Given the description of an element on the screen output the (x, y) to click on. 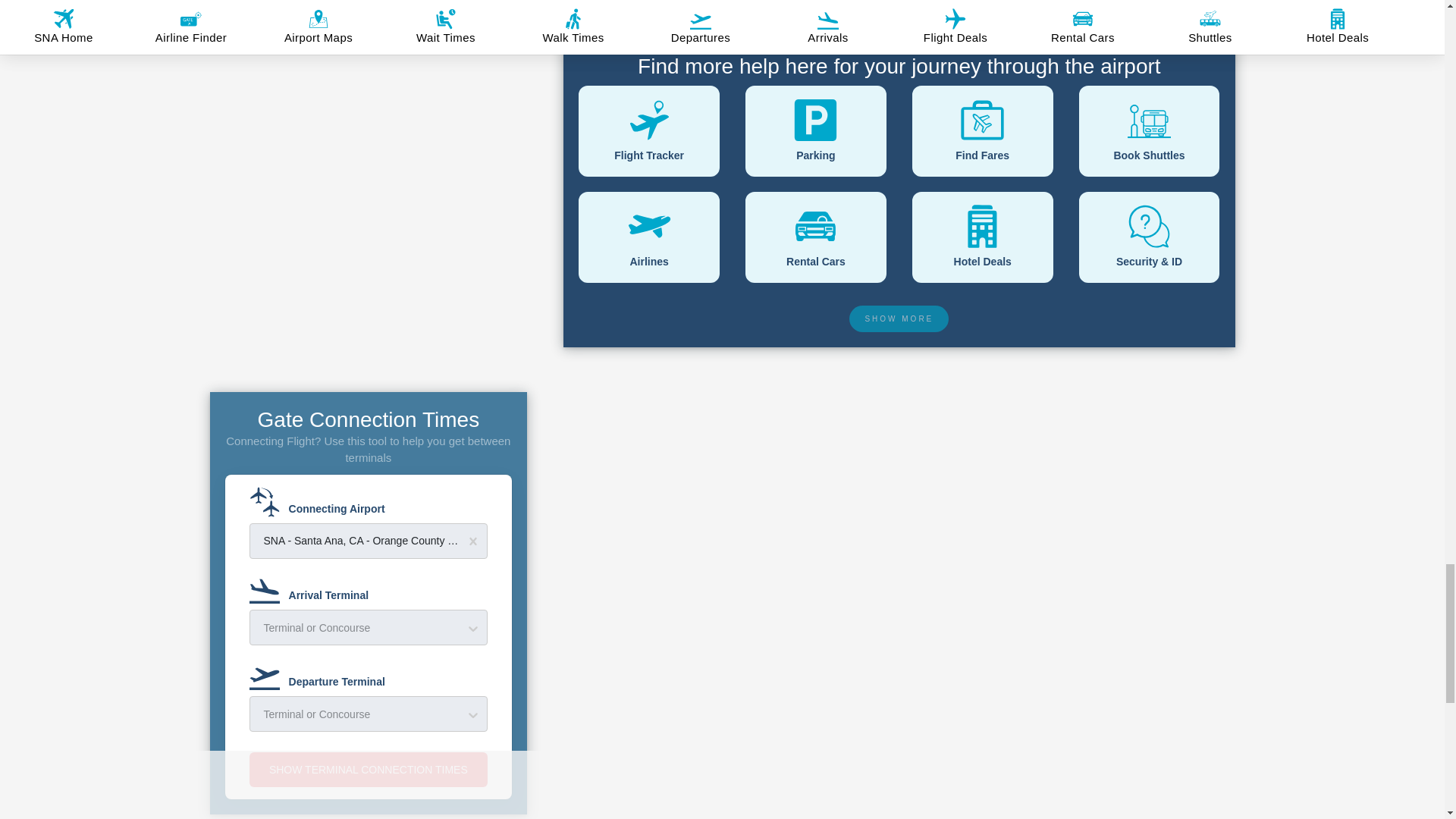
show more (898, 318)
